Given the description of an element on the screen output the (x, y) to click on. 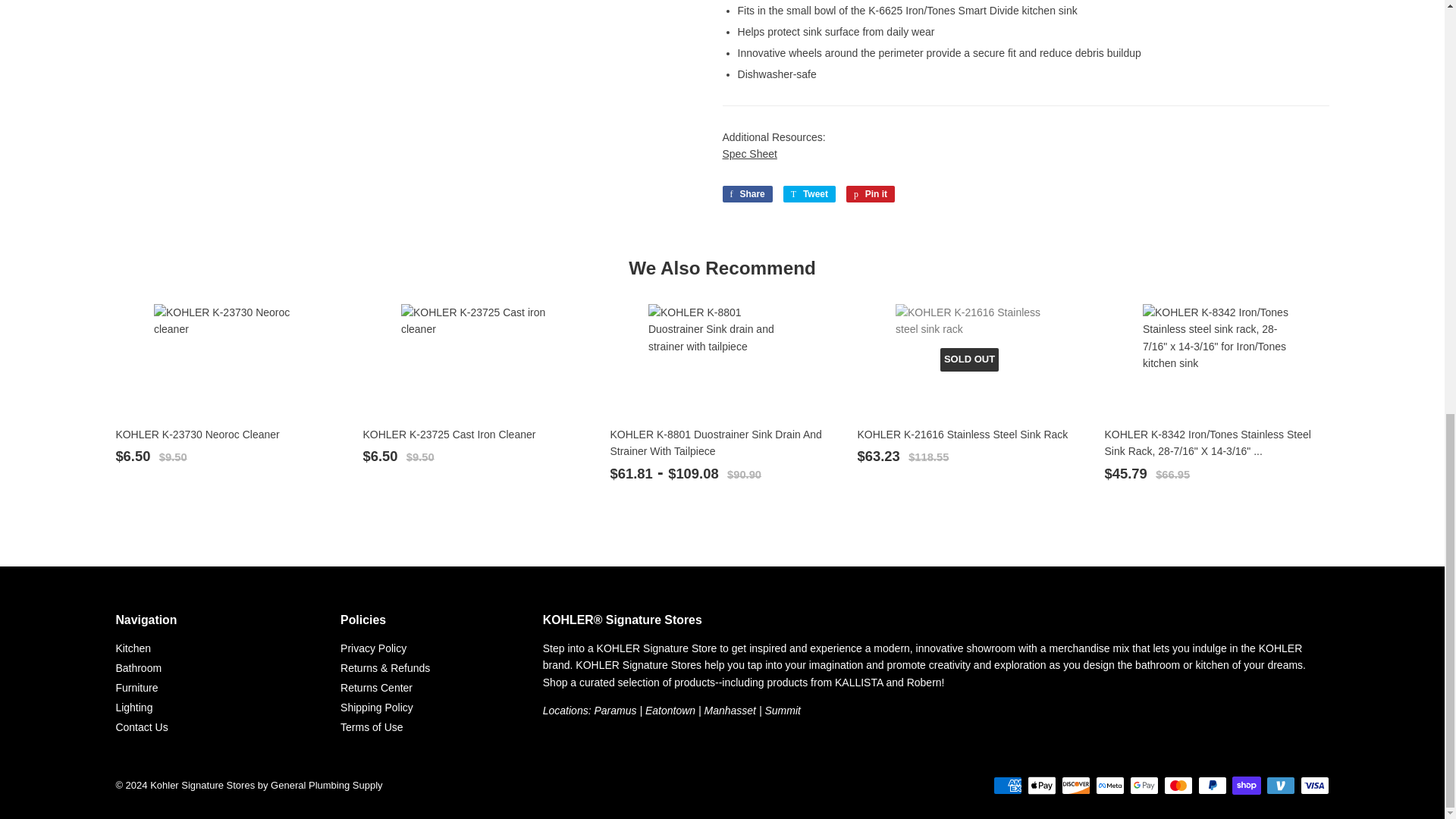
Apple Pay (1042, 785)
Google Pay (1143, 785)
American Express (1007, 785)
Venmo (1280, 785)
Tweet on Twitter (809, 193)
Share on Facebook (746, 193)
Visit the Kohler Signature Store (615, 710)
PayPal (1212, 785)
Mastercard (1177, 785)
Kohler by GPS (781, 710)
Discover (1075, 785)
Visit the Kohler Signature Store (729, 710)
Pin on Pinterest (870, 193)
Shop Pay (1245, 785)
Visa (1314, 785)
